Given the description of an element on the screen output the (x, y) to click on. 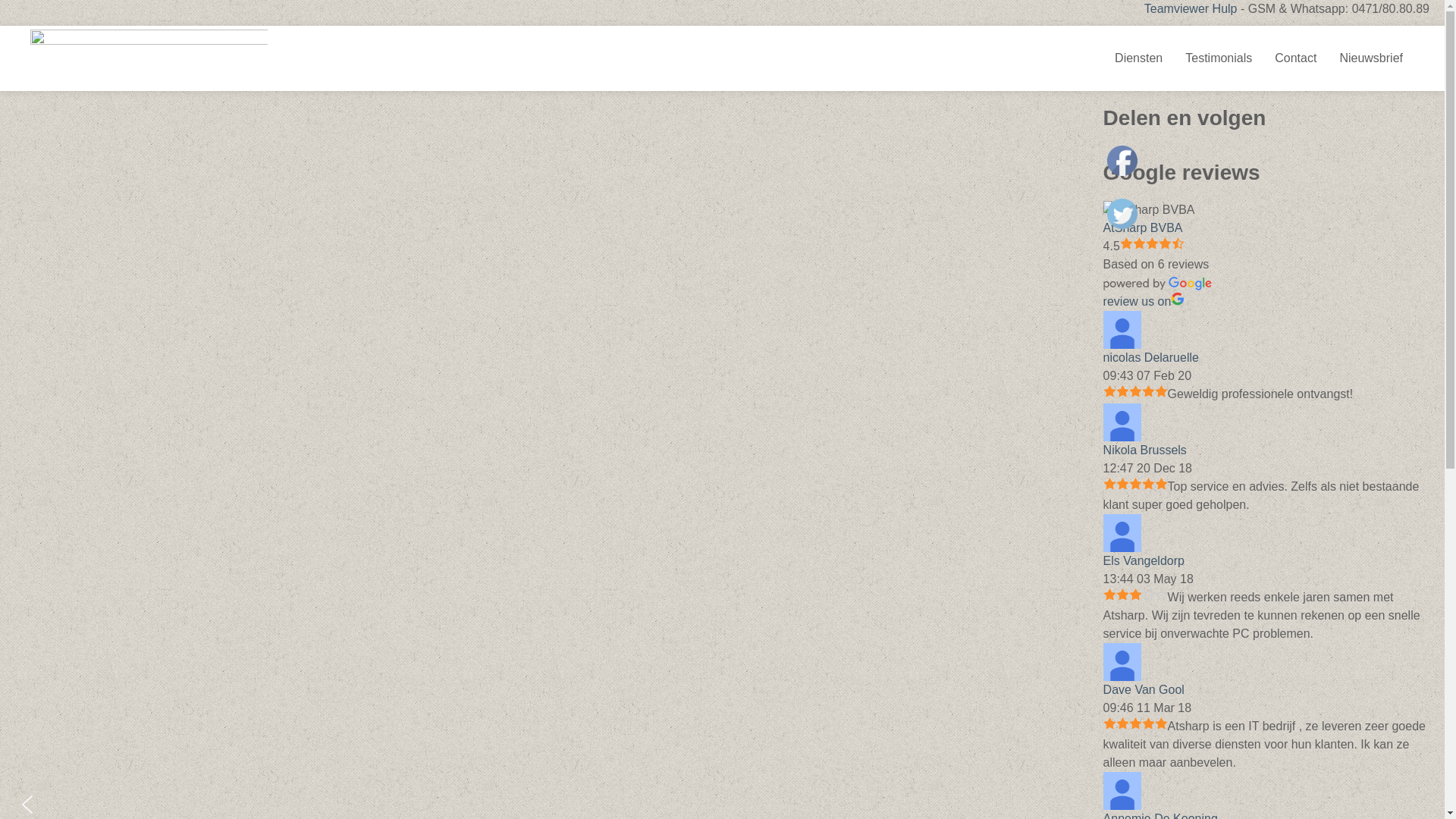
nicolas Delaruelle Element type: text (1150, 357)
Testimonials Element type: text (1218, 57)
Dave Van Gool Element type: hover (1122, 661)
AtSharp BVBA Element type: hover (1149, 209)
Twitter Element type: hover (1122, 213)
review us on Element type: text (1144, 300)
Nieuwsbrief Element type: text (1370, 57)
powered by Google Element type: hover (1157, 283)
Annemie De Kooning Element type: hover (1122, 790)
Contact Element type: text (1295, 57)
Els Vangeldorp Element type: text (1143, 560)
Els Vangeldorp Element type: hover (1122, 533)
Facebook Element type: hover (1122, 160)
Diensten Element type: text (1138, 57)
Nikola Brussels Element type: hover (1122, 422)
Nikola Brussels Element type: text (1144, 449)
AtSharp BVBA Element type: text (1143, 227)
Dave Van Gool Element type: text (1143, 689)
nicolas Delaruelle Element type: hover (1122, 329)
Teamviewer Hulp Element type: text (1190, 8)
